Given the description of an element on the screen output the (x, y) to click on. 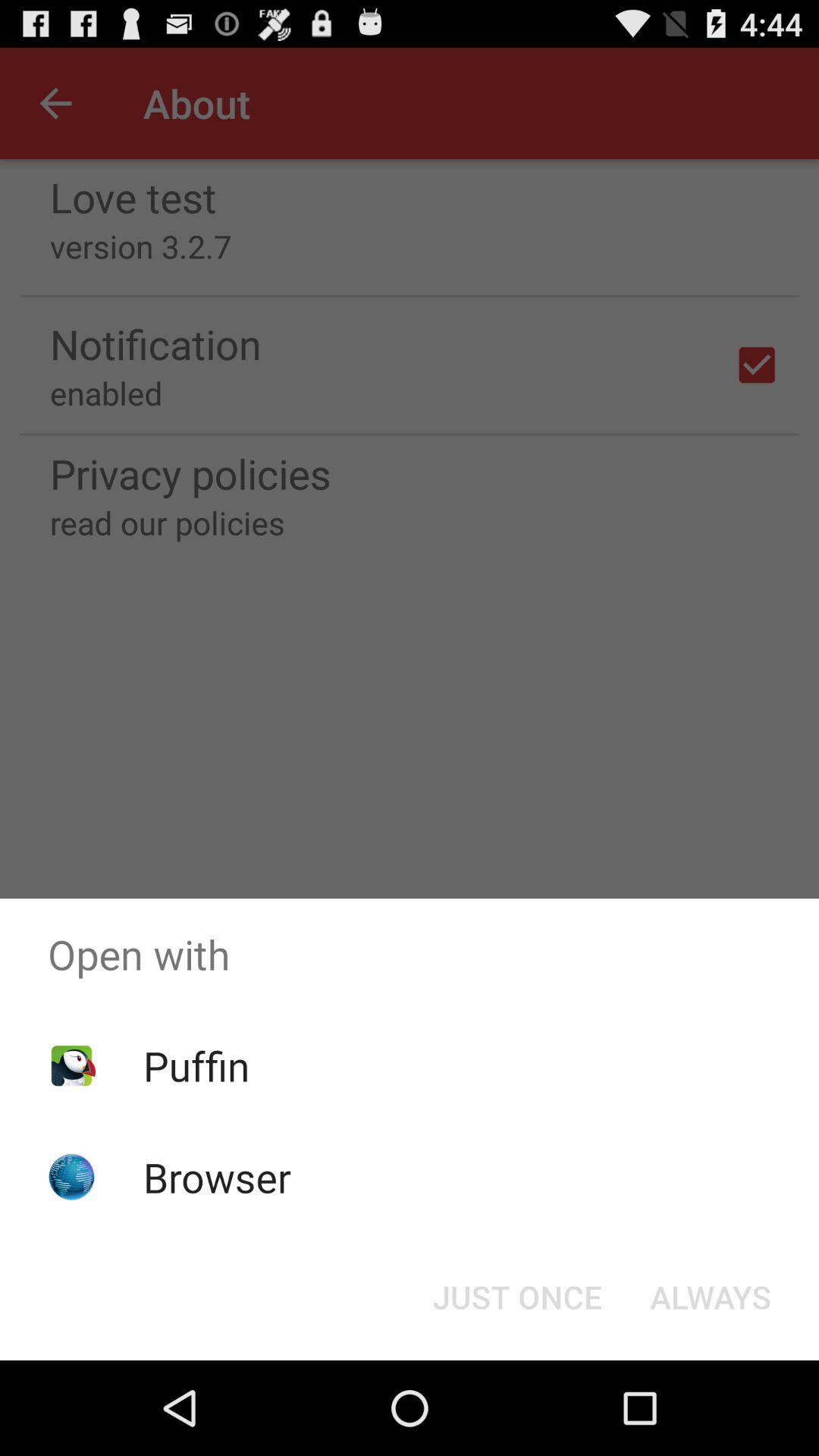
choose the item below open with app (710, 1296)
